Given the description of an element on the screen output the (x, y) to click on. 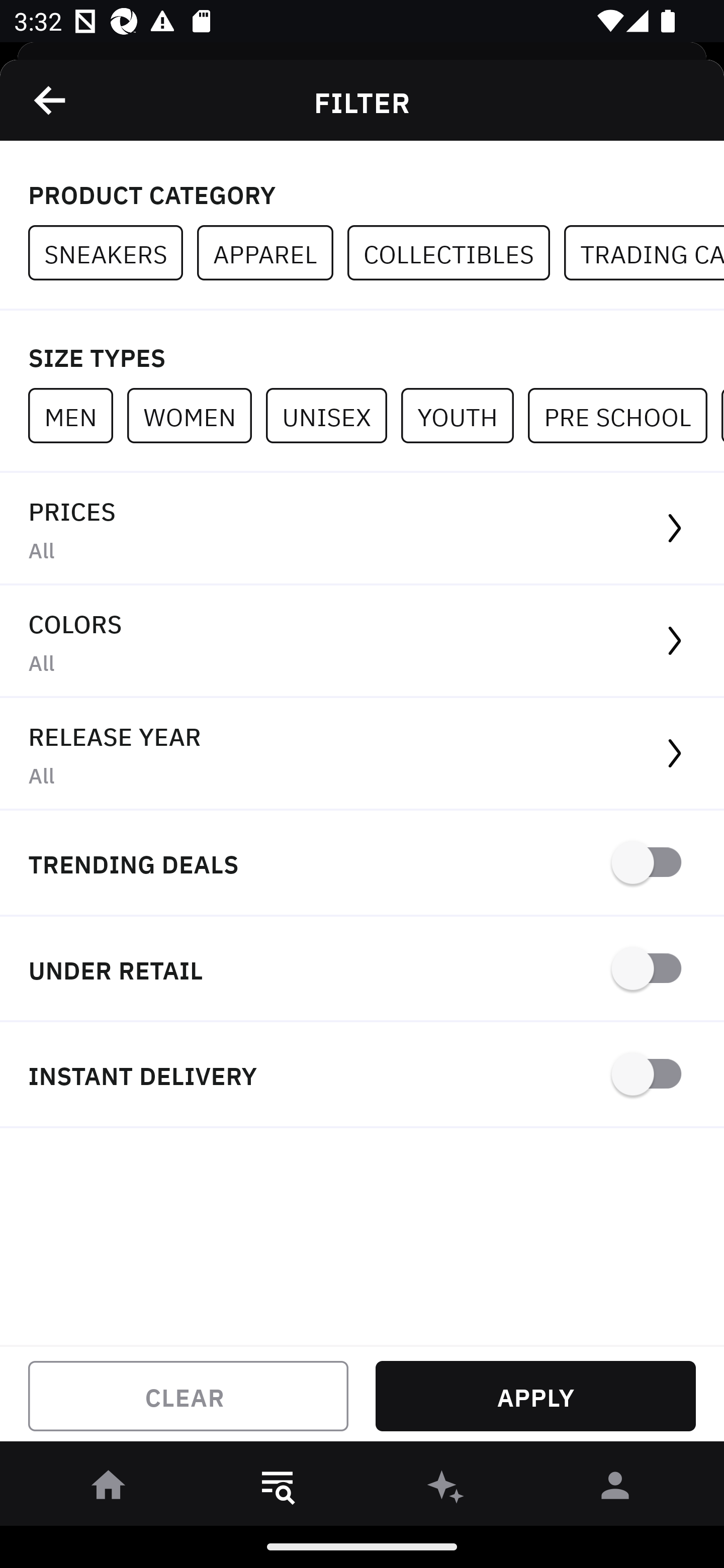
 (50, 100)
SNEAKERS (112, 252)
APPAREL (271, 252)
COLLECTIBLES (455, 252)
TRADING CARDS (643, 252)
MEN (77, 415)
WOMEN (196, 415)
UNISEX (333, 415)
YOUTH (464, 415)
PRE SCHOOL (624, 415)
PRICES All (362, 528)
COLORS All (362, 640)
RELEASE YEAR All (362, 753)
TRENDING DEALS (362, 863)
UNDER RETAIL (362, 969)
INSTANT DELIVERY (362, 1075)
CLEAR  (188, 1396)
APPLY (535, 1396)
󰋜 (108, 1488)
󱎸 (277, 1488)
󰫢 (446, 1488)
󰀄 (615, 1488)
